Given the description of an element on the screen output the (x, y) to click on. 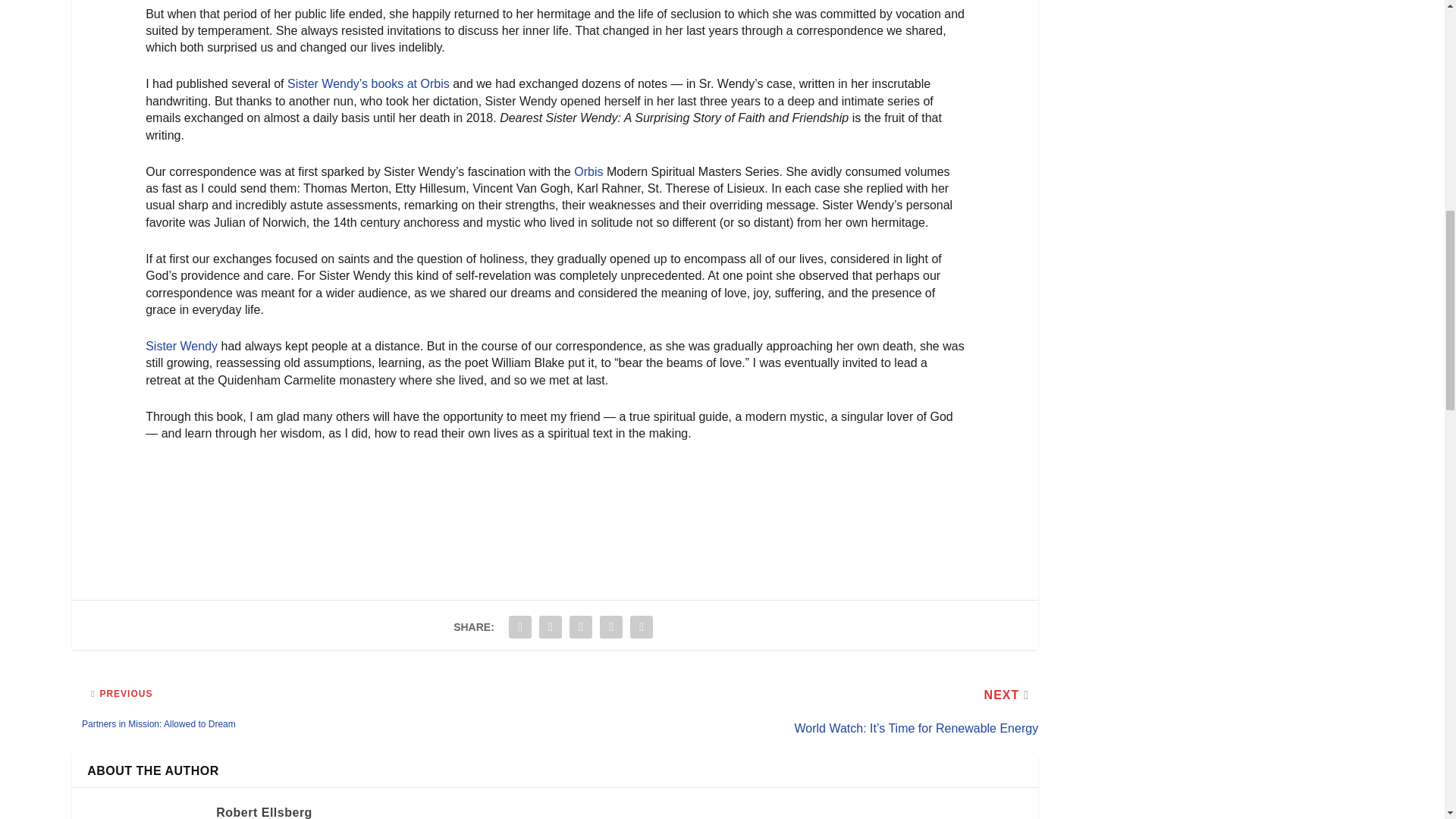
View all posts by Robert Ellsberg (264, 812)
Sister Wendy (180, 345)
Orbis (587, 171)
